Given the description of an element on the screen output the (x, y) to click on. 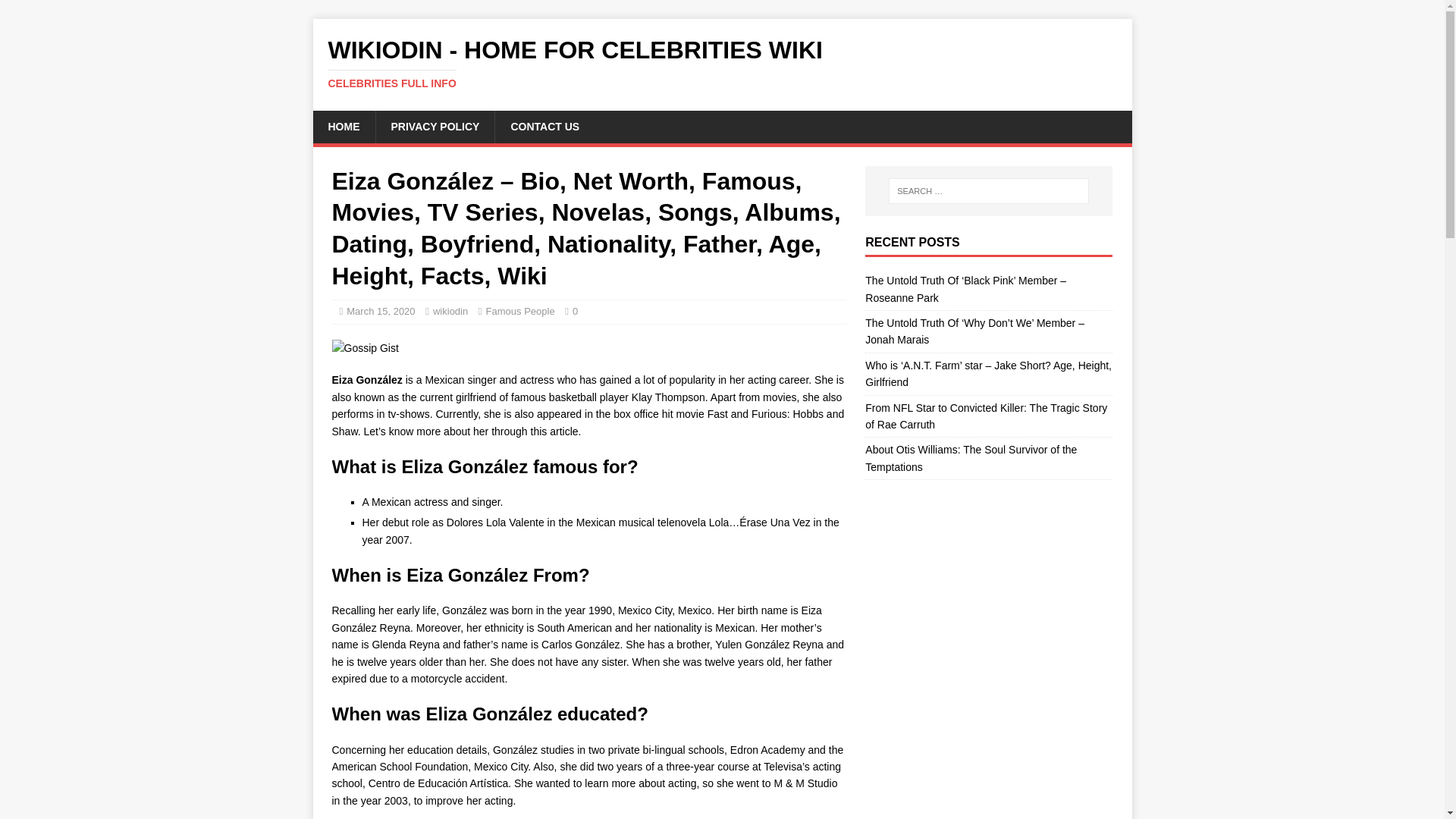
March 15, 2020 (380, 310)
HOME (343, 126)
Wikiodin - Home for celebrities wiki (721, 63)
Search (56, 11)
Famous People (520, 310)
PRIVACY POLICY (434, 126)
wikiodin (721, 63)
About Otis Williams: The Soul Survivor of the Temptations (449, 310)
